Given the description of an element on the screen output the (x, y) to click on. 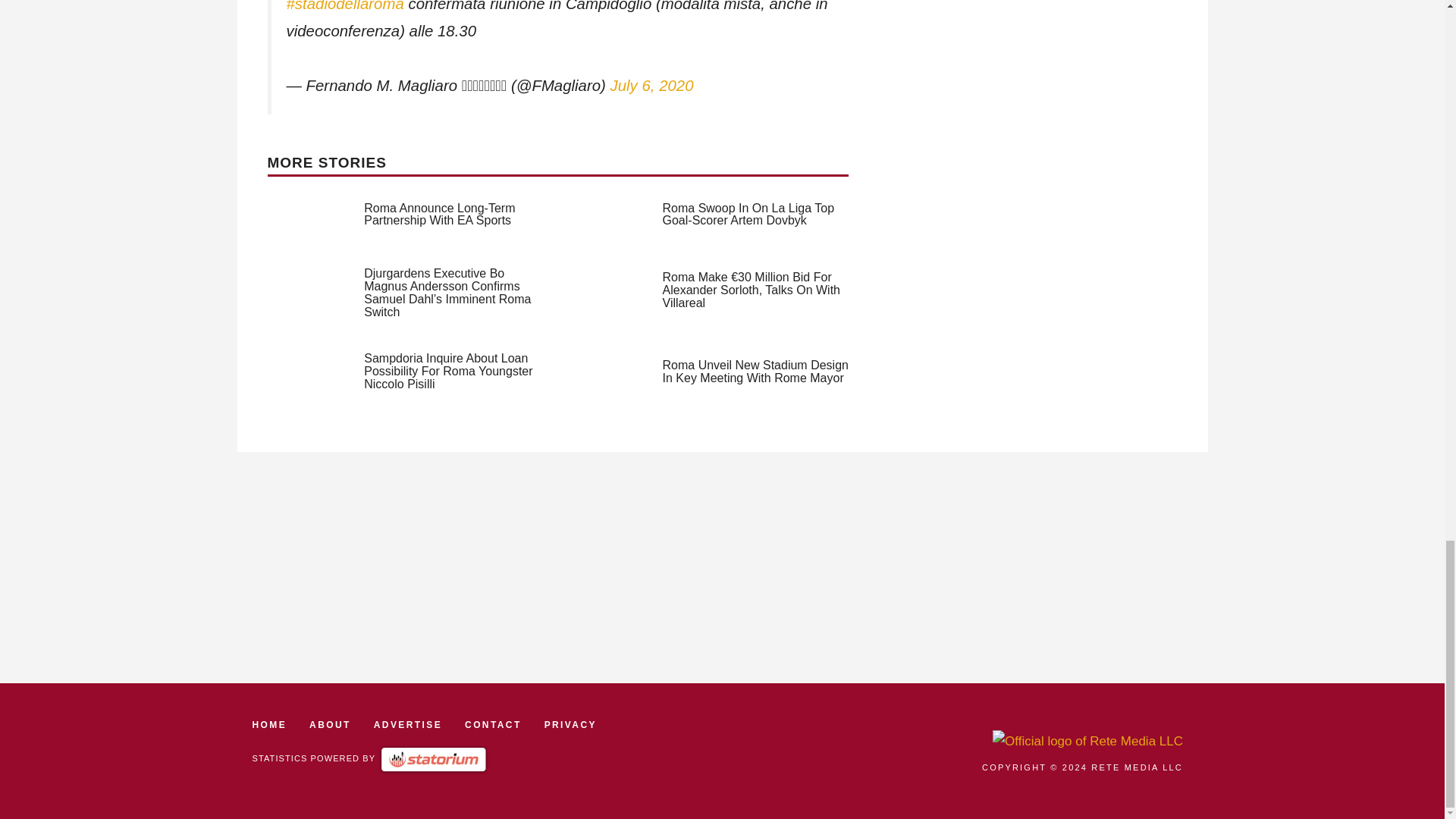
ABOUT (329, 725)
HOME (268, 725)
Roma Swoop In On La Liga Top Goal-Scorer Artem Dovbyk (748, 214)
CONTACT (492, 725)
July 6, 2020 (652, 85)
Roma Announce Long-Term Partnership With EA Sports (439, 214)
PRIVACY (570, 725)
ADVERTISE (408, 725)
